Given the description of an element on the screen output the (x, y) to click on. 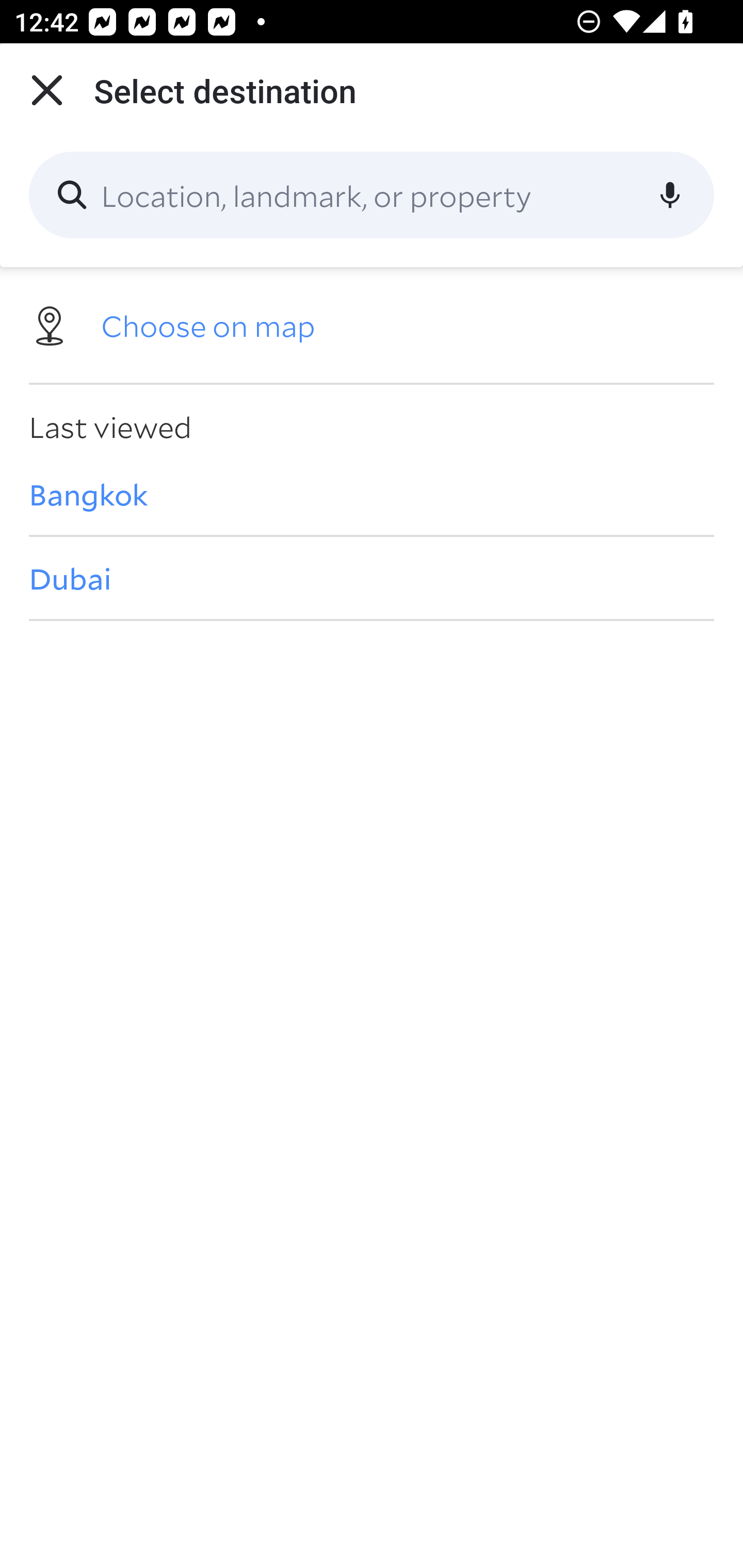
Location, landmark, or property (371, 195)
Choose on map (371, 324)
Bangkok (371, 493)
Dubai (371, 577)
